Given the description of an element on the screen output the (x, y) to click on. 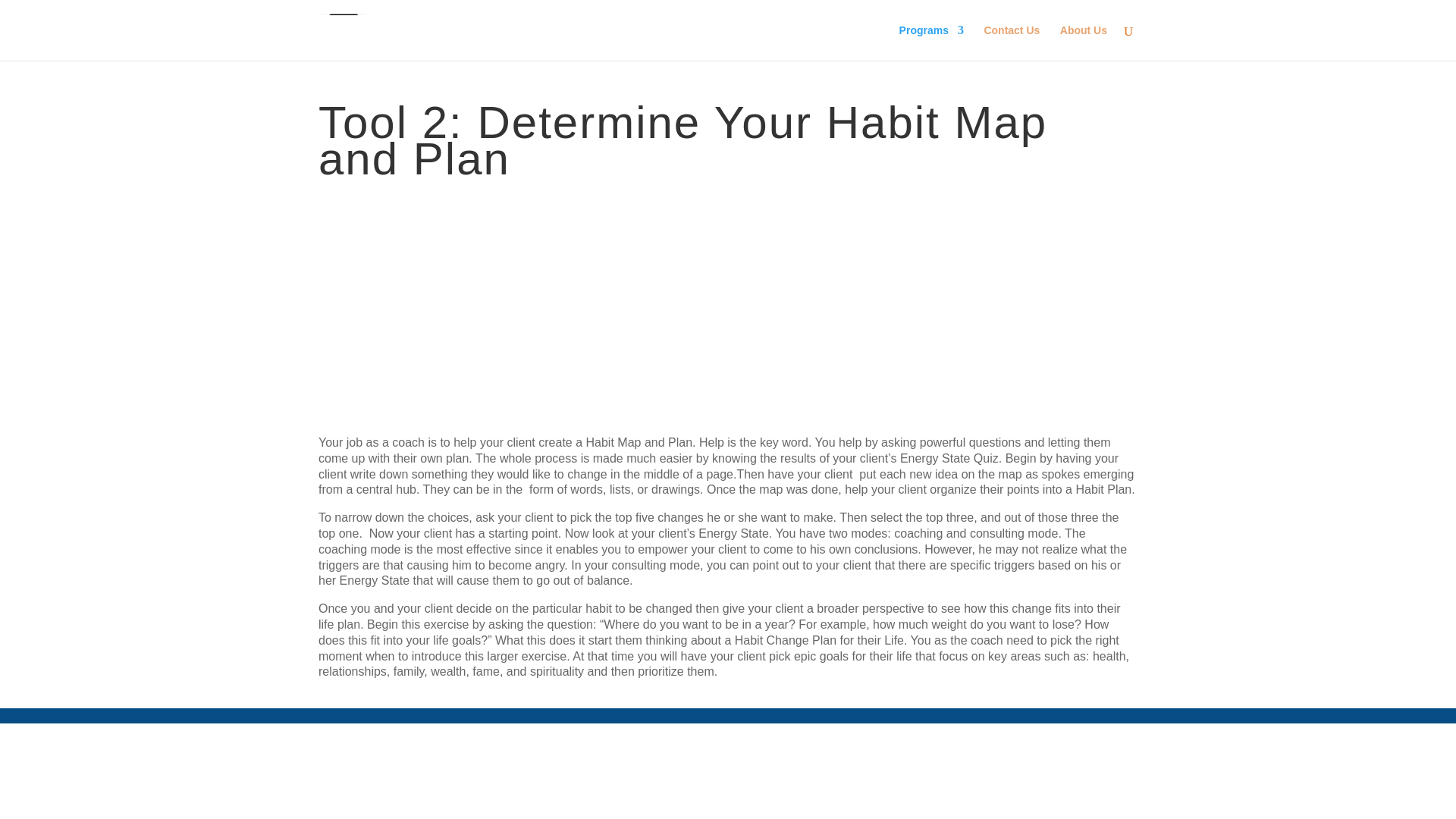
About Us (1082, 42)
Programs (931, 42)
Contact Us (1011, 42)
